Given the description of an element on the screen output the (x, y) to click on. 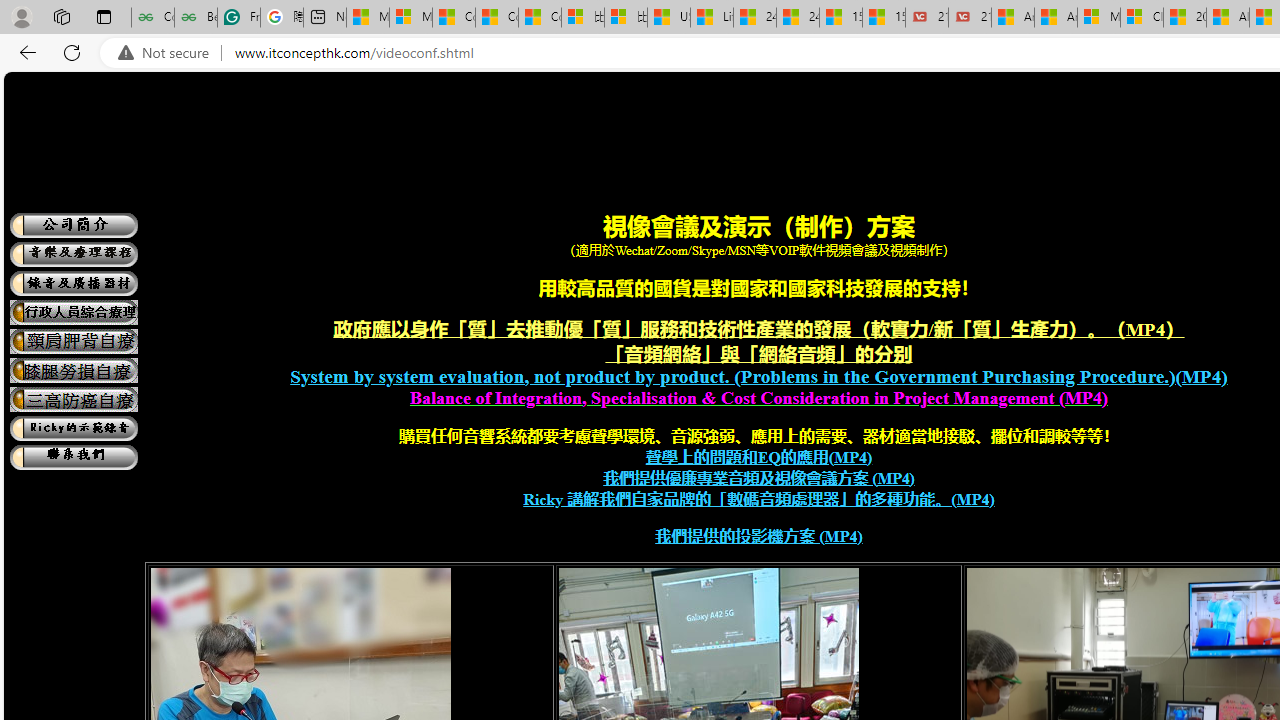
21 Movies That Outdid the Books They Were Based On (969, 17)
Cloud Computing Services | Microsoft Azure (1142, 17)
USA TODAY - MSN (668, 17)
Best SSL Certificates Provider in India - GeeksforGeeks (196, 17)
Free AI Writing Assistance for Students | Grammarly (238, 17)
